Given the description of an element on the screen output the (x, y) to click on. 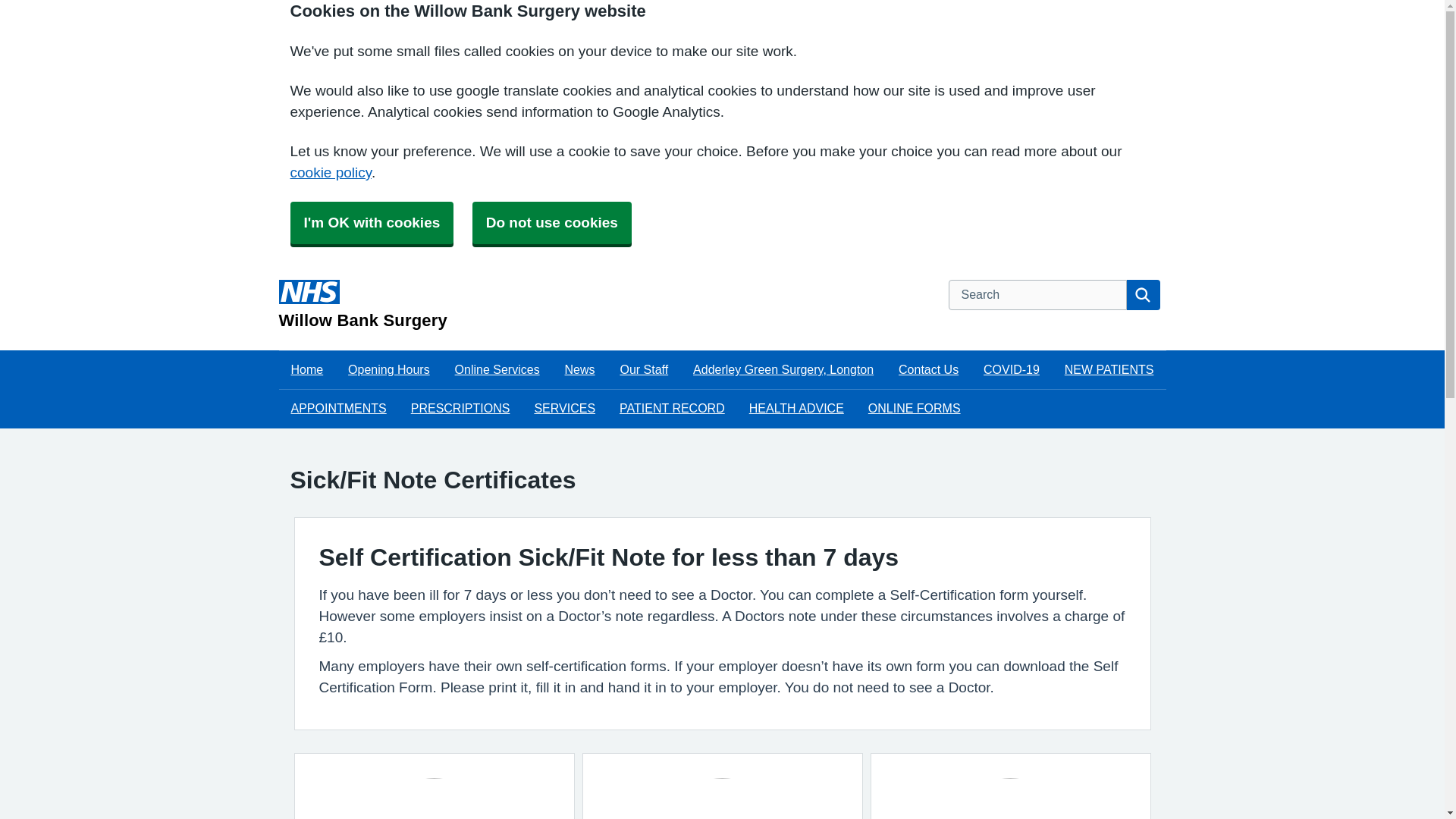
NEW PATIENTS (1109, 370)
Opening Hours (389, 370)
News (580, 370)
PATIENT RECORD (671, 408)
Search (1143, 295)
I'm OK with cookies (370, 222)
Our Staff (643, 370)
Do not use cookies (551, 222)
SERVICES (564, 408)
Contact Us (928, 370)
Home (307, 370)
cookie policy (330, 172)
COVID-19 (1011, 370)
PRESCRIPTIONS (460, 408)
ONLINE FORMS (914, 408)
